Given the description of an element on the screen output the (x, y) to click on. 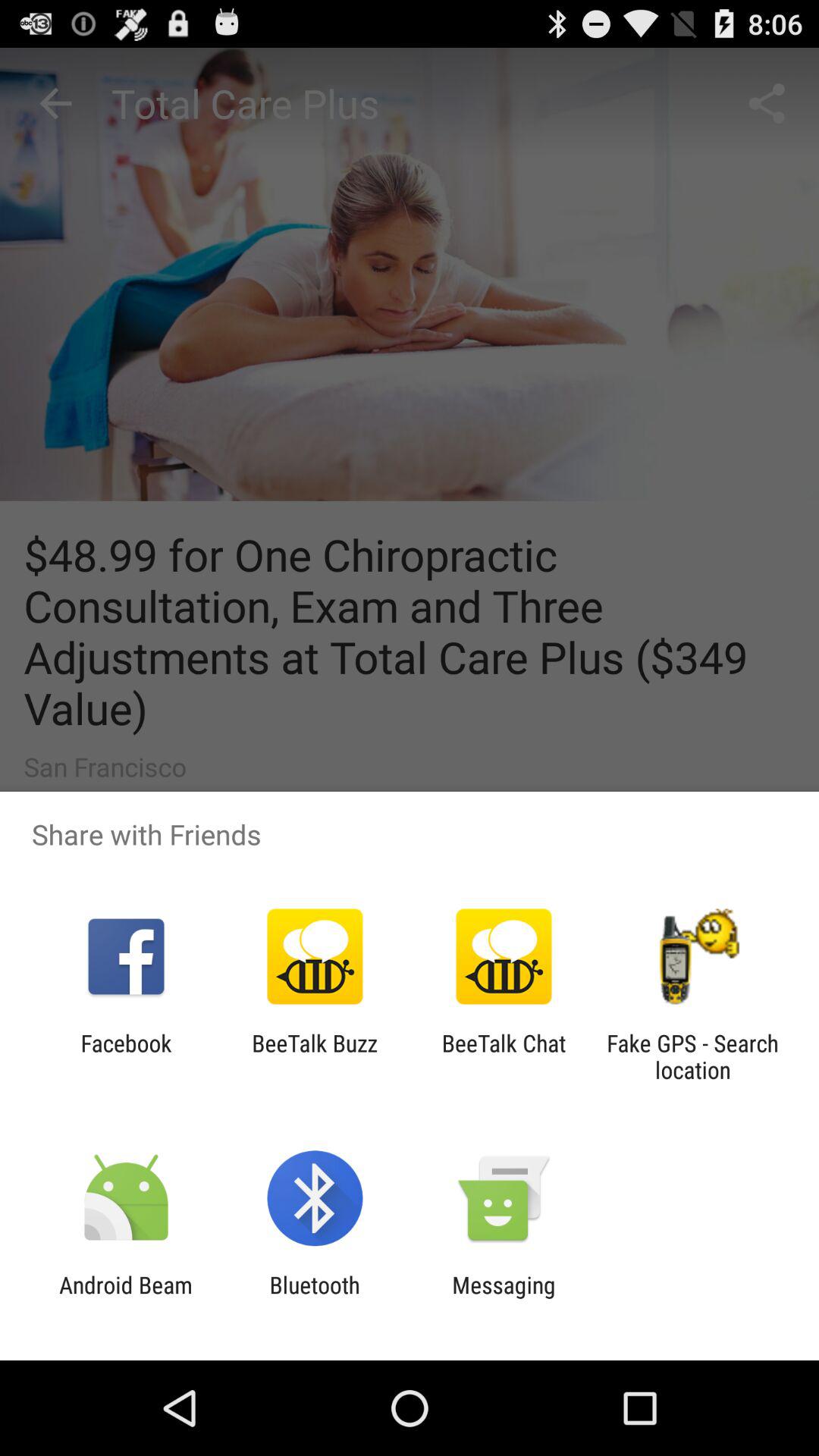
launch the item next to the beetalk chat app (314, 1056)
